Given the description of an element on the screen output the (x, y) to click on. 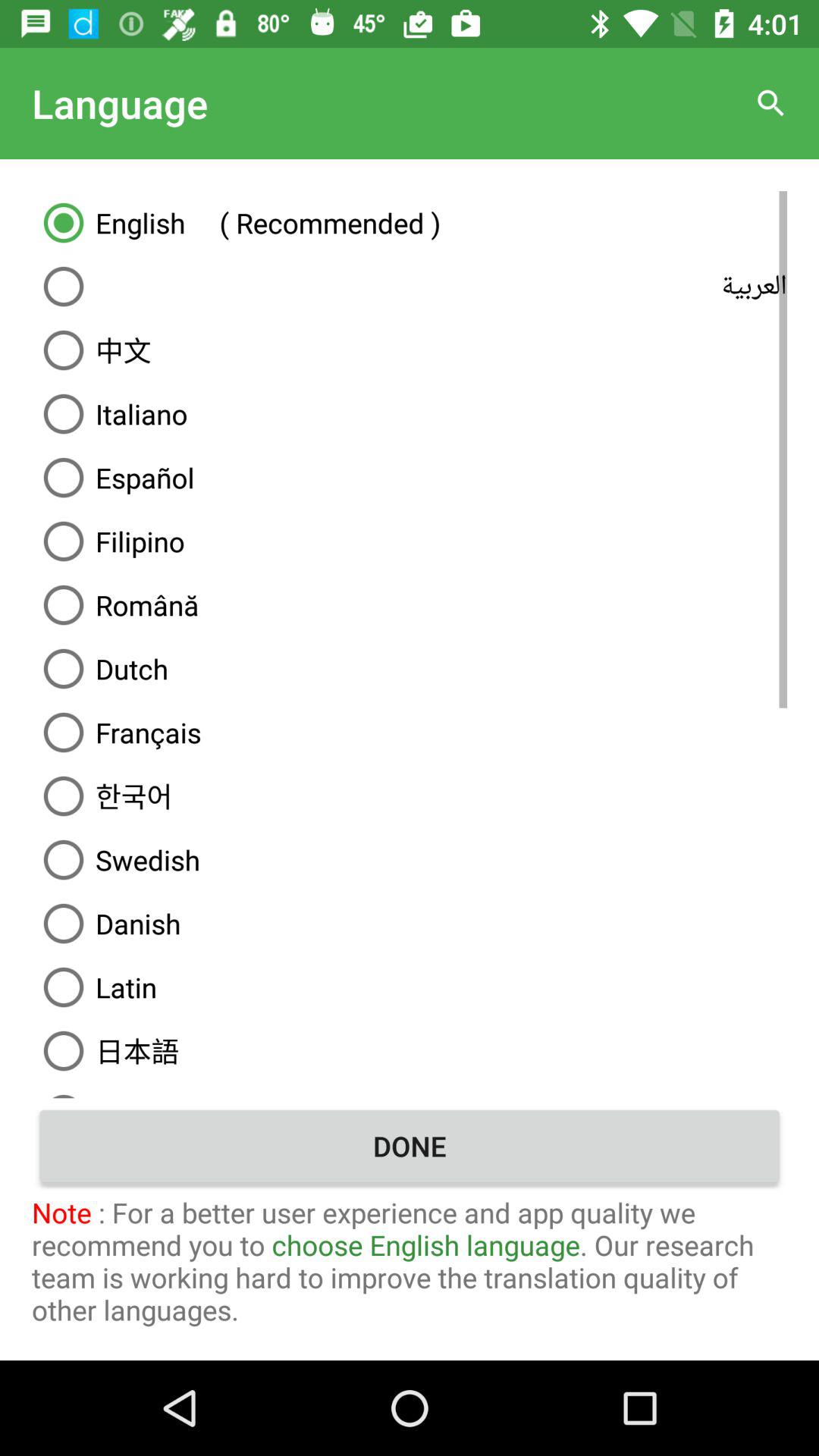
choose icon next to language icon (771, 103)
